Given the description of an element on the screen output the (x, y) to click on. 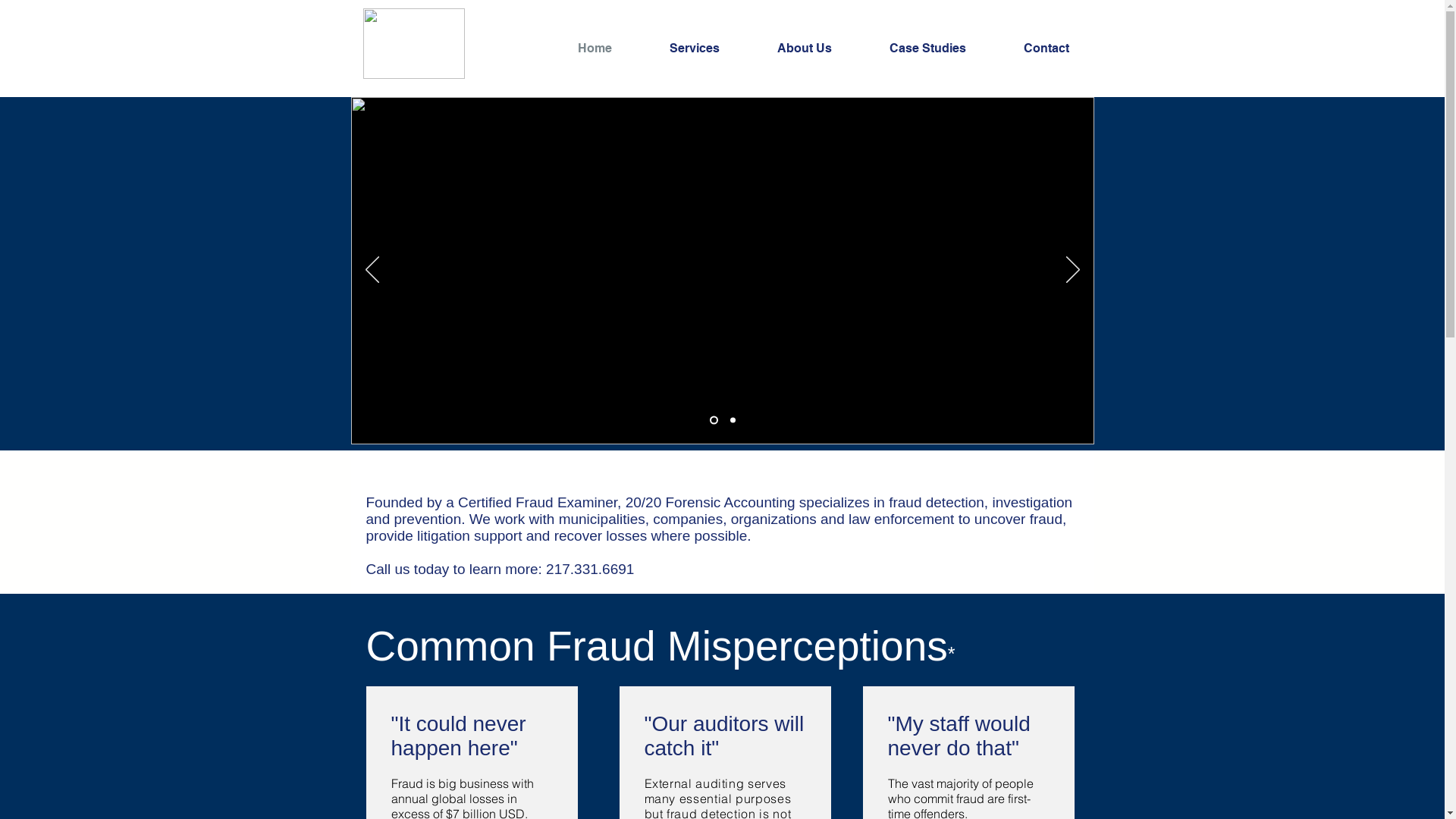
Contact Element type: text (1062, 48)
About Us Element type: text (821, 48)
Services Element type: text (711, 48)
Home Element type: text (611, 48)
Case Studies Element type: text (945, 48)
